Given the description of an element on the screen output the (x, y) to click on. 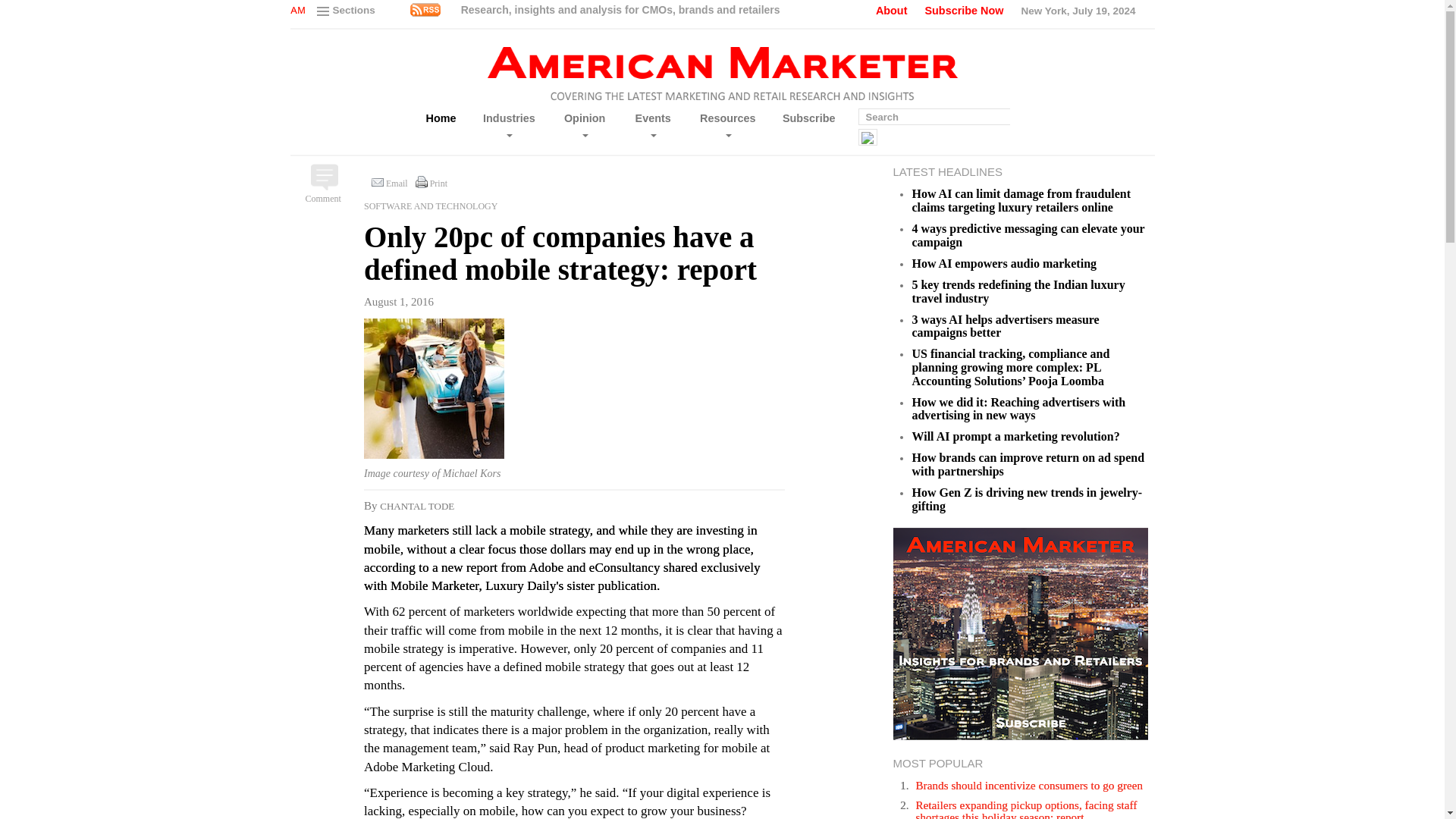
Industries (508, 126)
Sections (347, 11)
Subscribe Now (963, 10)
About (891, 10)
Home (441, 118)
